Given the description of an element on the screen output the (x, y) to click on. 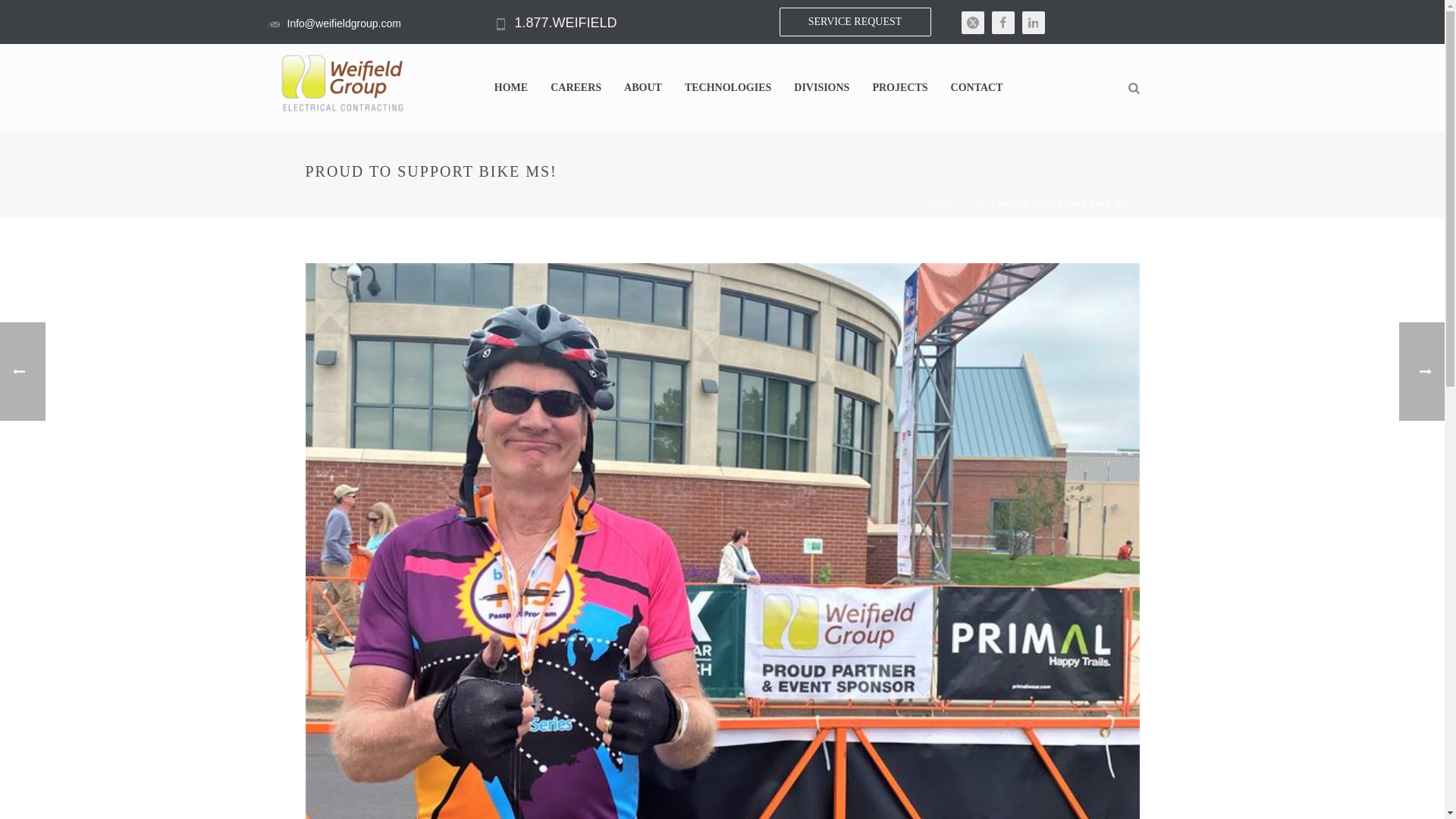
ABOUT (642, 87)
CAREERS (575, 87)
ABOUT (642, 87)
TECHNOLOGIES (727, 87)
1.877.WEIFIELD (564, 22)
DIVISIONS (821, 87)
PROJECTS (899, 87)
LEEDing the way in electrical construction (343, 82)
DIVISIONS (821, 87)
CAREERS (575, 87)
CONTACT (976, 87)
HOME (510, 87)
TECHNOLOGIES (727, 87)
PROJECTS (899, 87)
